Given the description of an element on the screen output the (x, y) to click on. 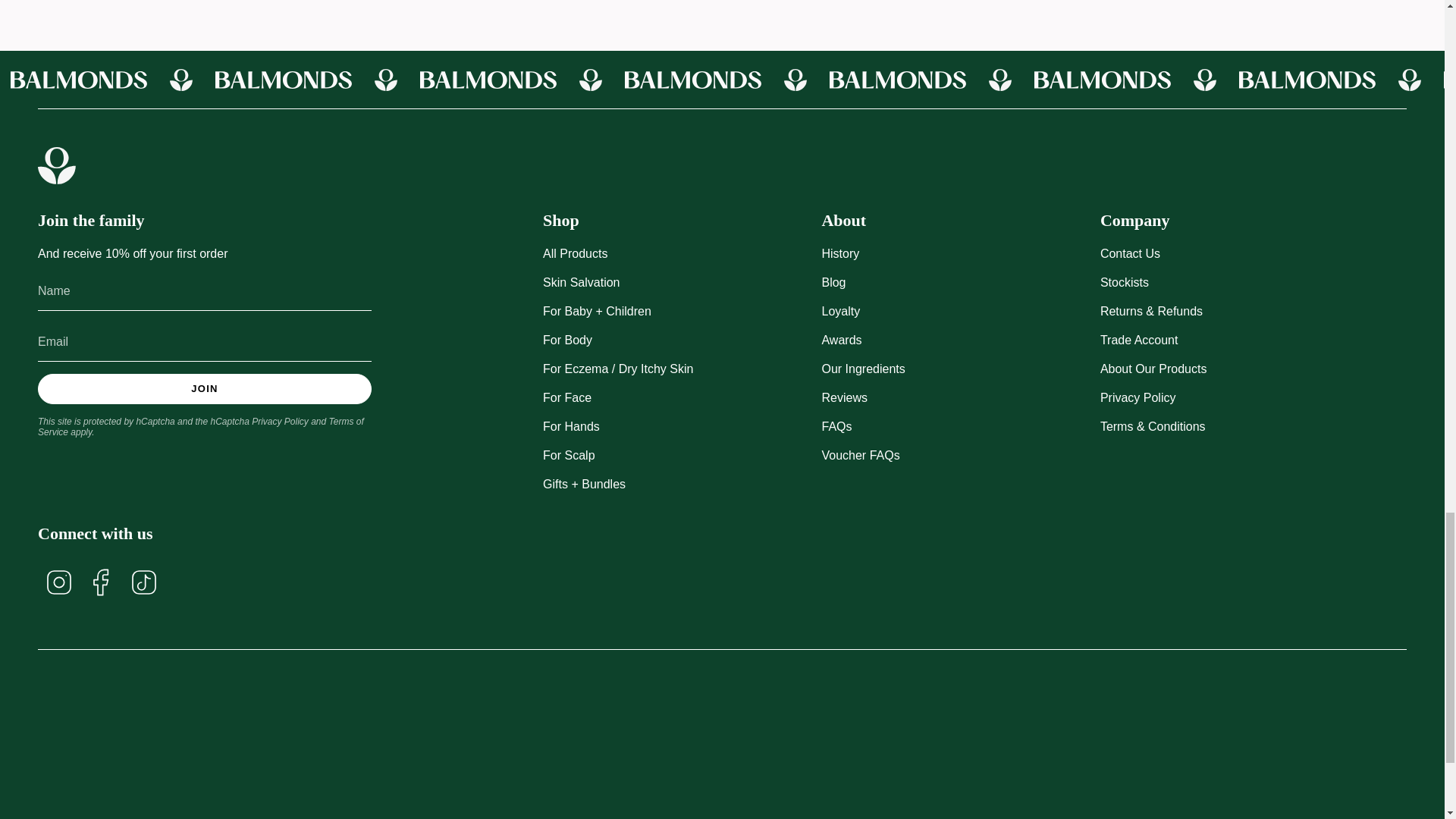
Balmonds on Instagram (58, 581)
Balmonds on TikTok (143, 581)
Balmonds on Facebook (100, 581)
